Given the description of an element on the screen output the (x, y) to click on. 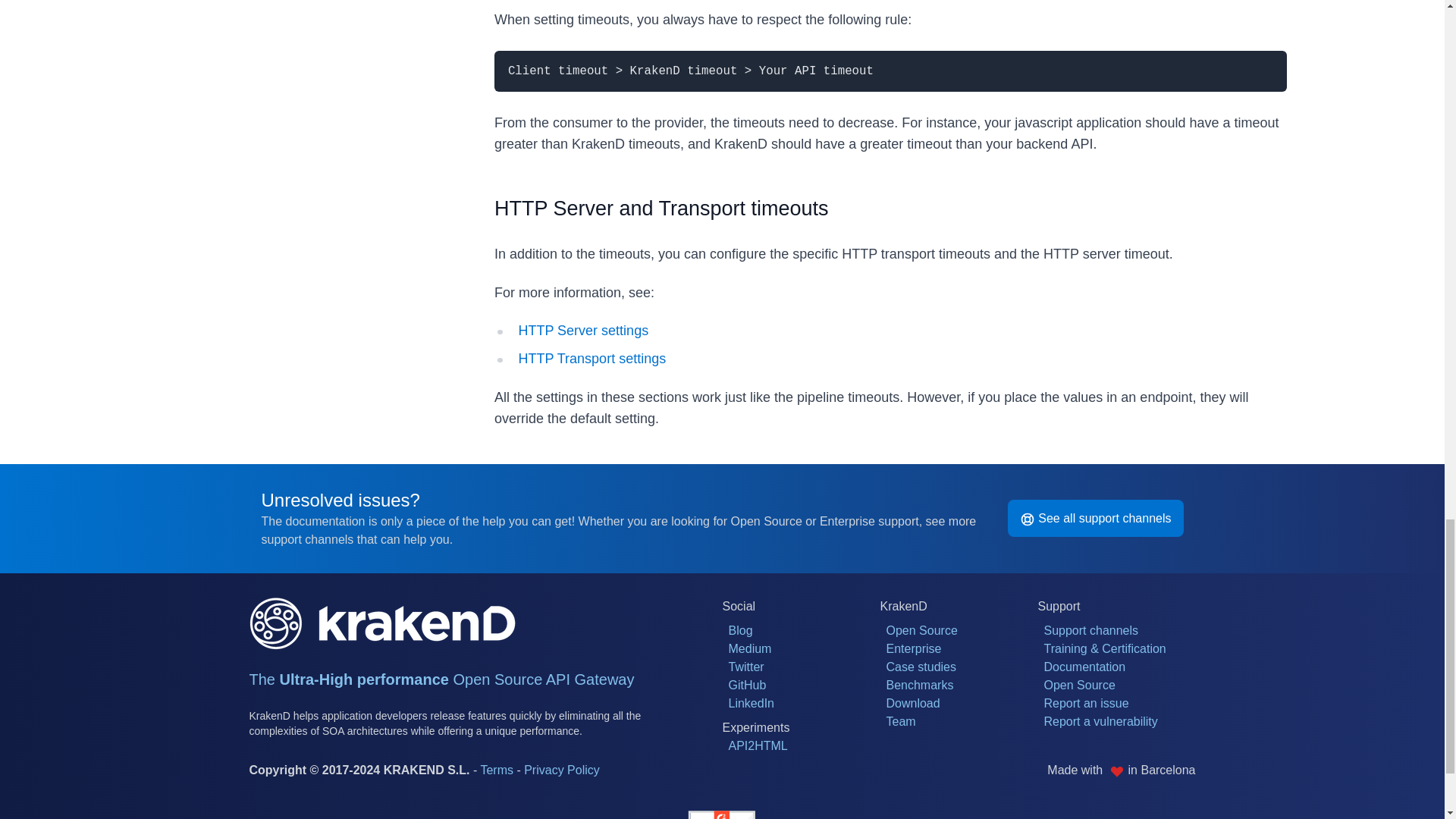
KrakenD API Gateway is a leader in API Management on G2 (722, 811)
